Given the description of an element on the screen output the (x, y) to click on. 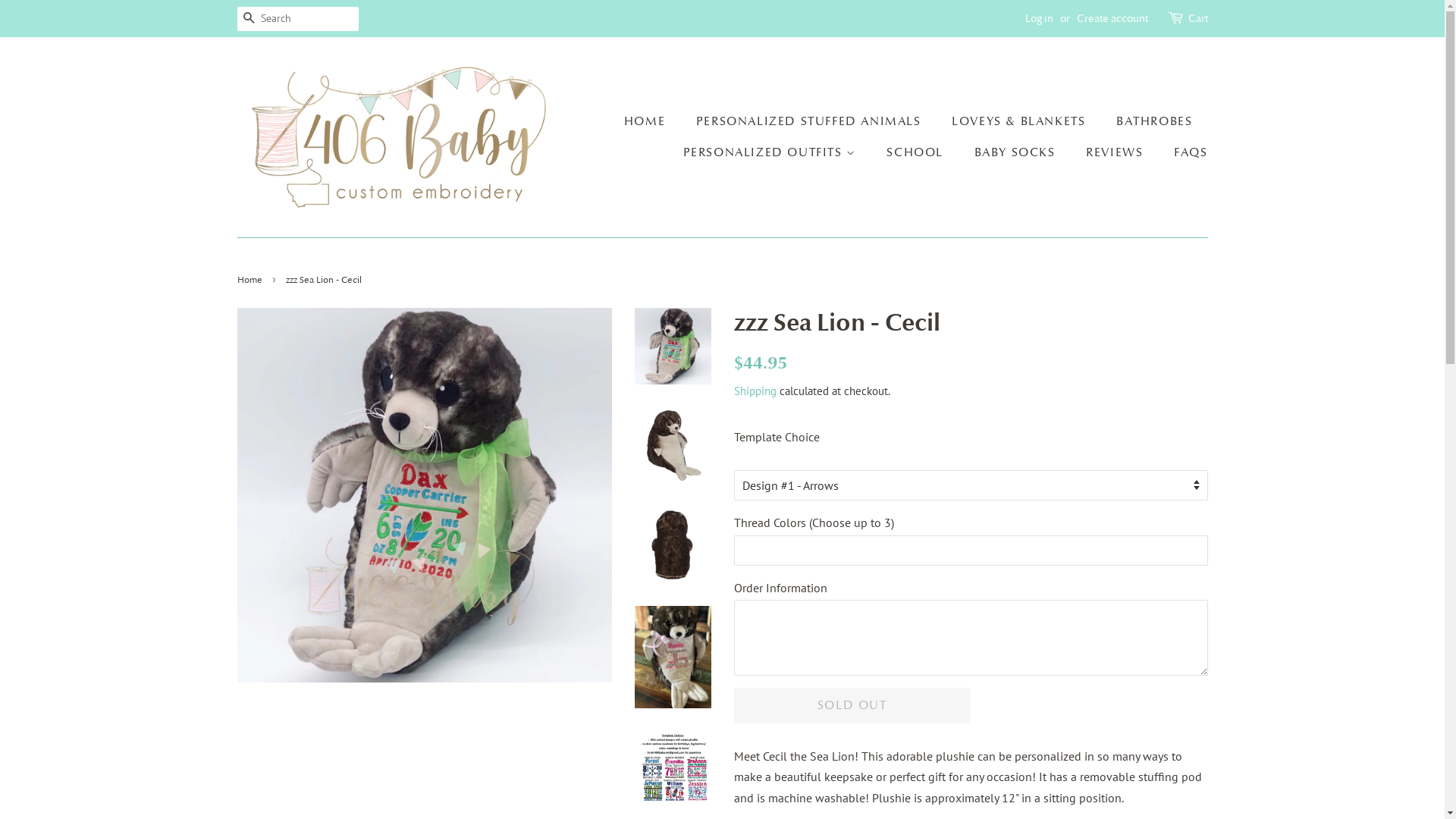
PERSONALIZED STUFFED ANIMALS Element type: text (810, 121)
BATHROBES Element type: text (1155, 121)
SCHOOL Element type: text (916, 152)
FAQS Element type: text (1184, 152)
Create account Element type: text (1112, 18)
Log in Element type: text (1039, 18)
Home Element type: text (250, 279)
PERSONALIZED OUTFITS Element type: text (771, 152)
Shipping Element type: text (755, 390)
Cart Element type: text (1197, 18)
REVIEWS Element type: text (1115, 152)
LOVEYS & BLANKETS Element type: text (1020, 121)
SEARCH Element type: text (248, 18)
HOME Element type: text (652, 121)
SOLD OUT Element type: text (852, 705)
BABY SOCKS Element type: text (1016, 152)
